Given the description of an element on the screen output the (x, y) to click on. 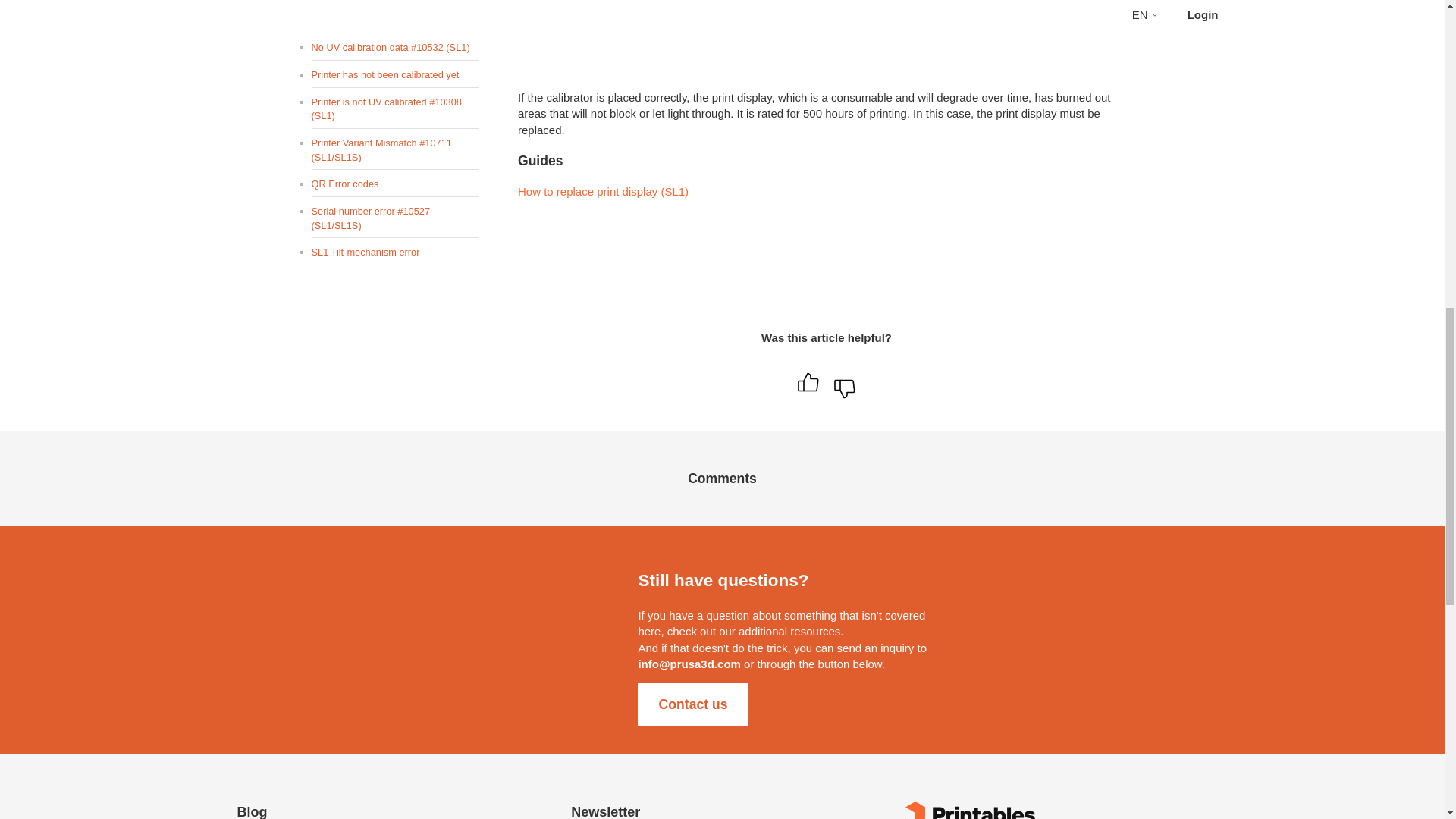
SL1 Tilt-mechanism error (394, 252)
Printer has not been calibrated yet (394, 74)
QR Error codes (394, 183)
Static memory has been overwritten (394, 320)
